Given the description of an element on the screen output the (x, y) to click on. 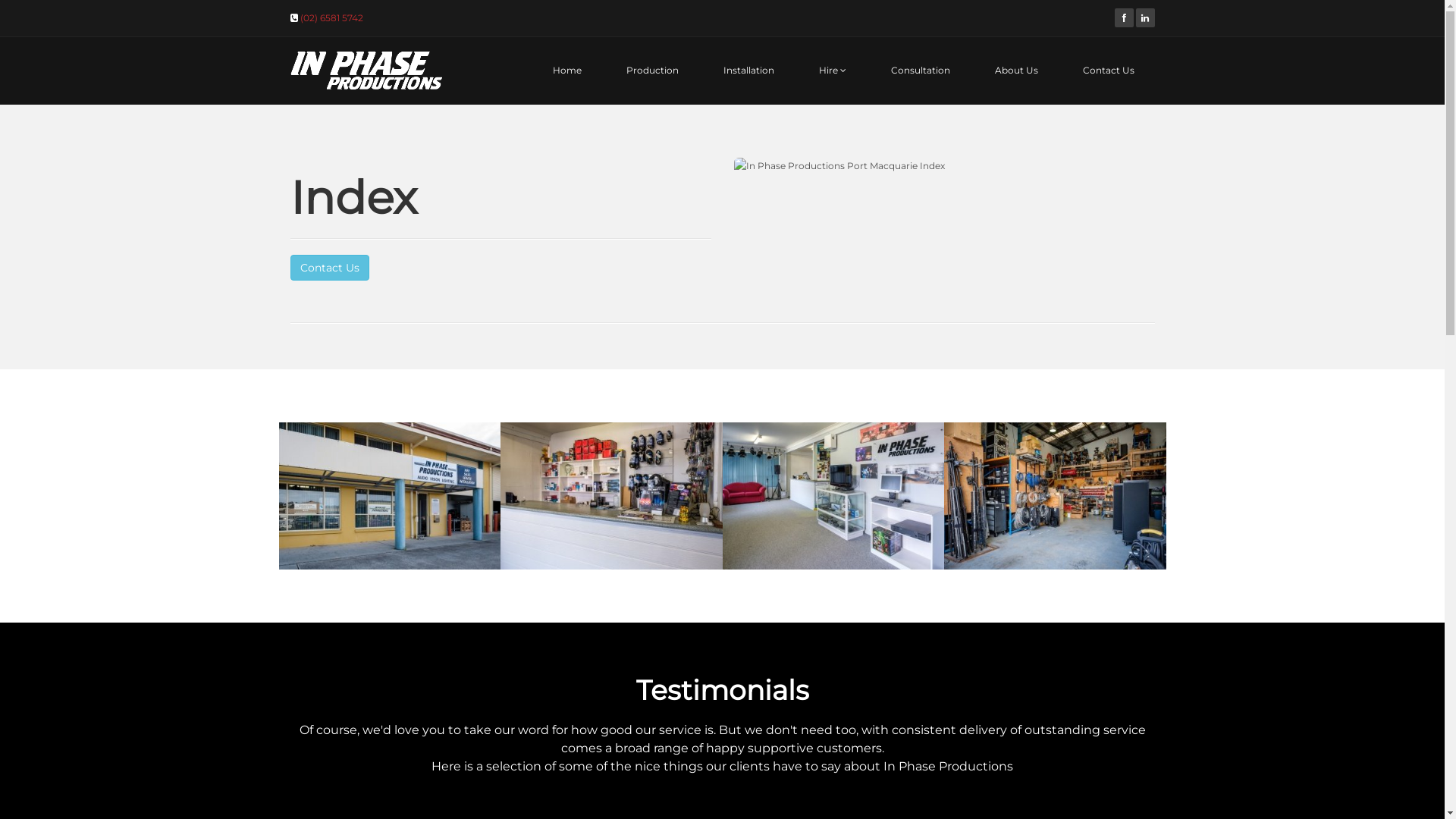
(02) 6581 5742 Element type: text (331, 17)
Production Element type: text (652, 70)
Contact Us Element type: text (1108, 70)
About Us Element type: text (1016, 70)
Home Element type: text (565, 70)
Contact Us Element type: text (328, 267)
Installation Element type: text (748, 70)
Hire Element type: text (832, 70)
Consultation Element type: text (919, 70)
